Given the description of an element on the screen output the (x, y) to click on. 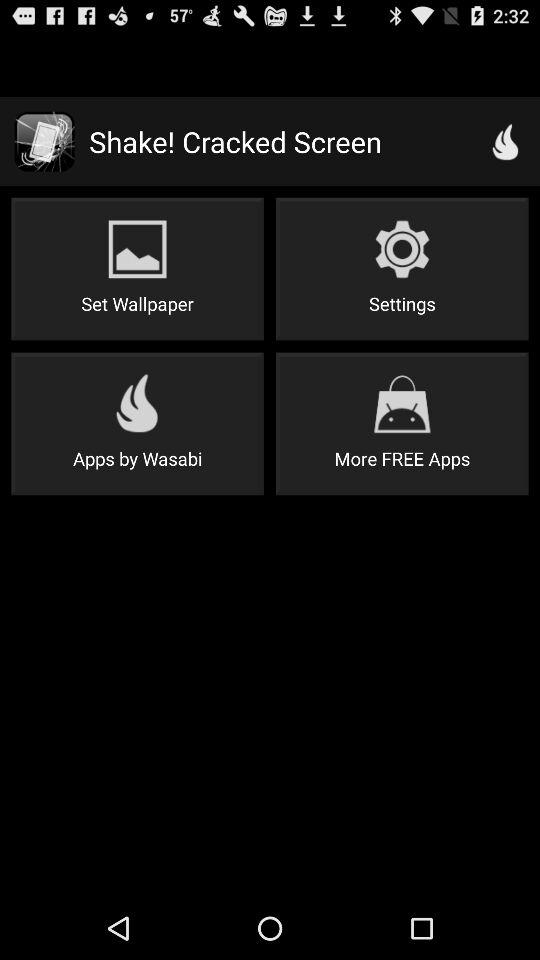
select the apps by wasabi (137, 423)
